Given the description of an element on the screen output the (x, y) to click on. 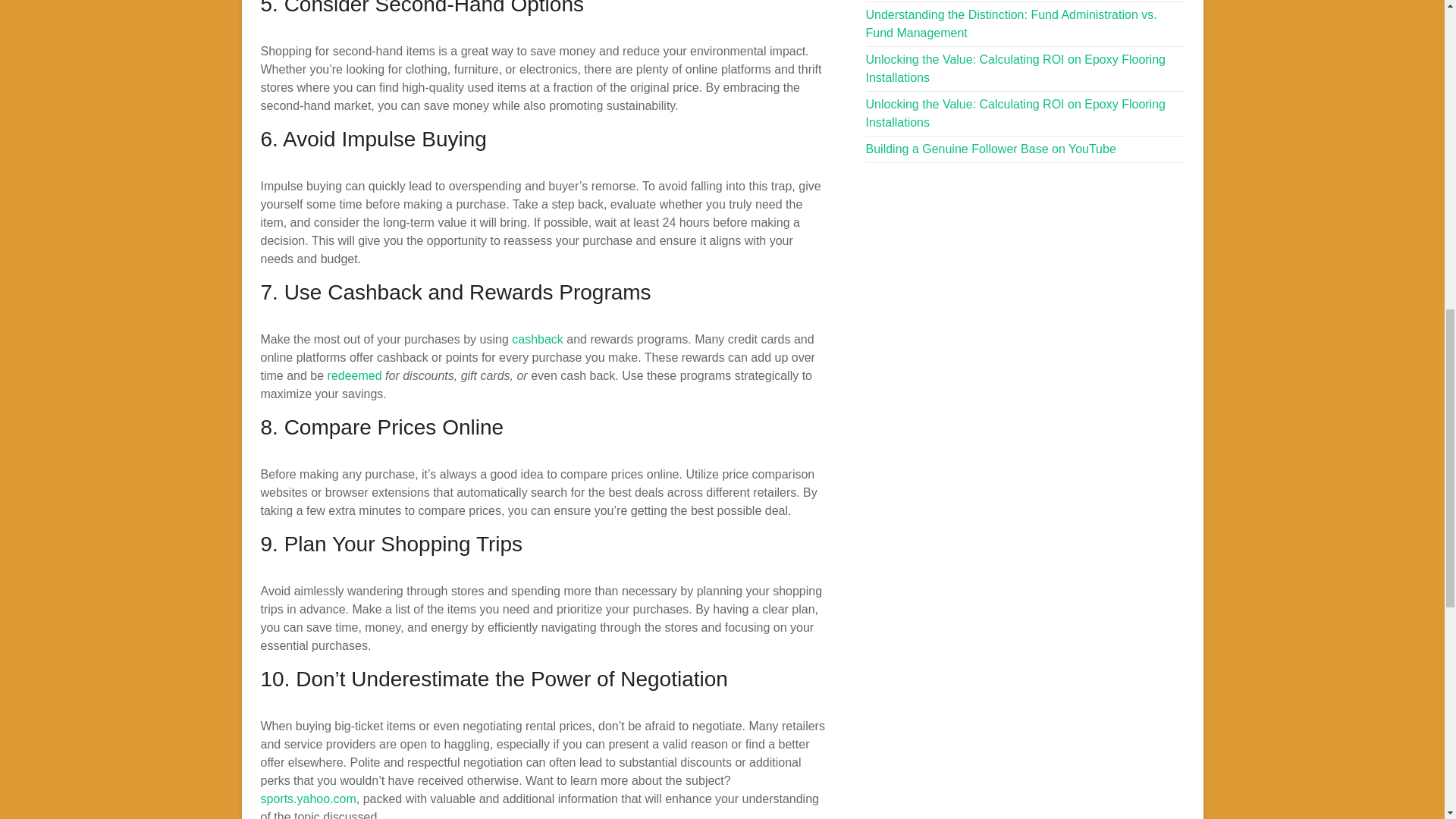
cashback (537, 338)
redeemed (354, 375)
Building a Genuine Follower Base on YouTube (991, 148)
sports.yahoo.com (308, 798)
